Given the description of an element on the screen output the (x, y) to click on. 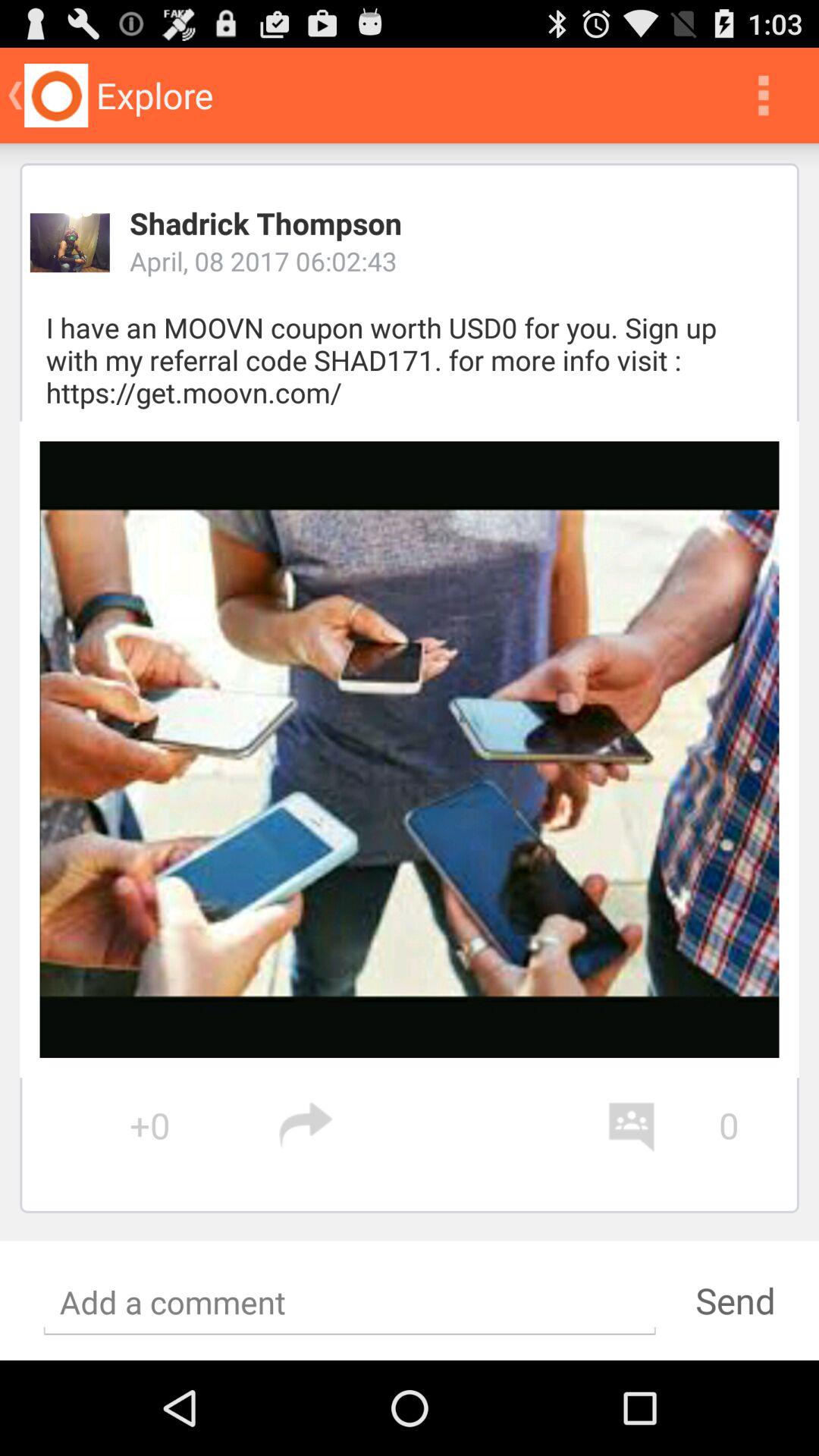
turn on item next to the +0 (442, 1125)
